Given the description of an element on the screen output the (x, y) to click on. 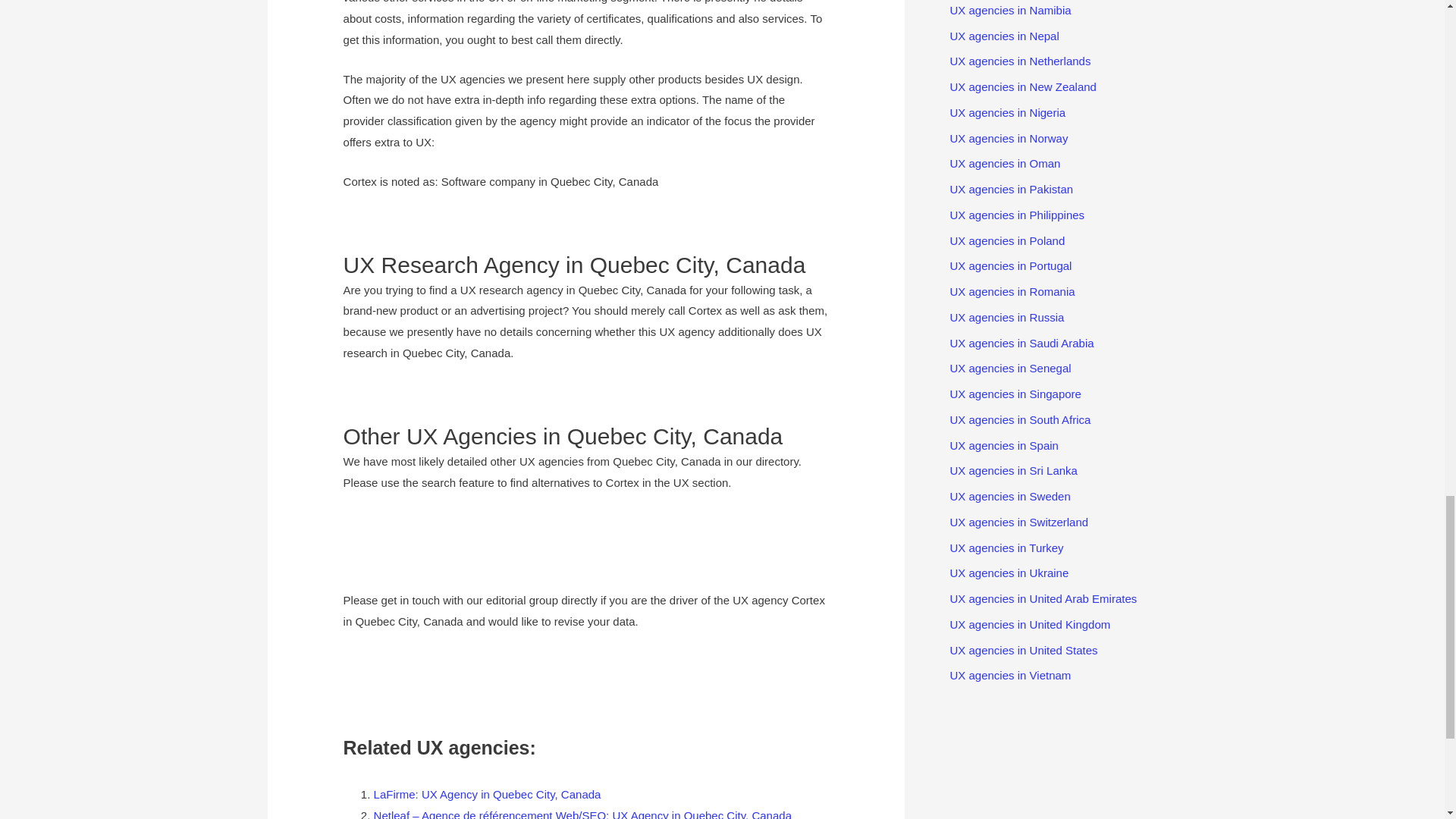
LaFirme: UX Agency in Quebec City, Canada (487, 793)
LaFirme: UX Agency in Quebec City, Canada (487, 793)
